Given the description of an element on the screen output the (x, y) to click on. 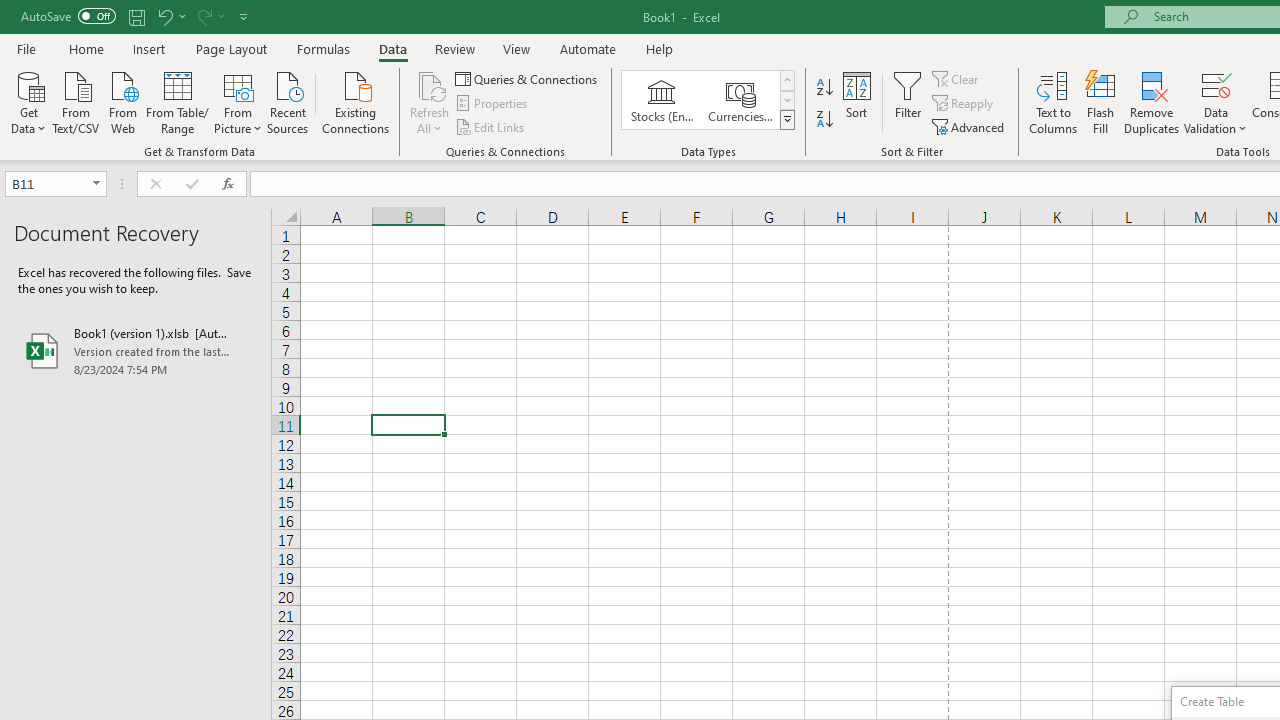
From Text/CSV (75, 101)
Sort Z to A (824, 119)
Recent Sources (287, 101)
Existing Connections (355, 101)
Currencies (English) (740, 100)
Text to Columns... (1053, 102)
